Given the description of an element on the screen output the (x, y) to click on. 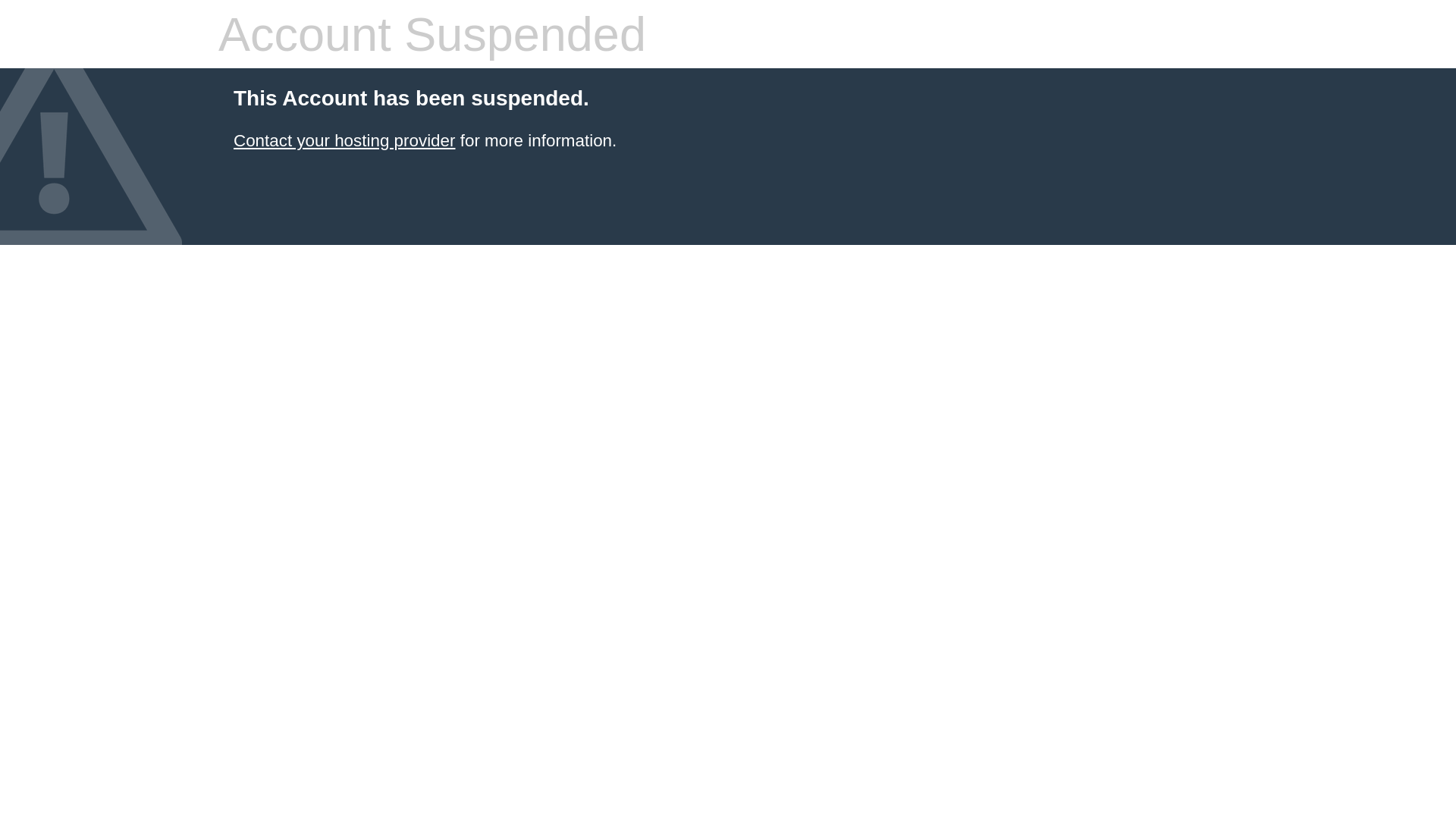
Contact your hosting provider Element type: text (344, 140)
